Given the description of an element on the screen output the (x, y) to click on. 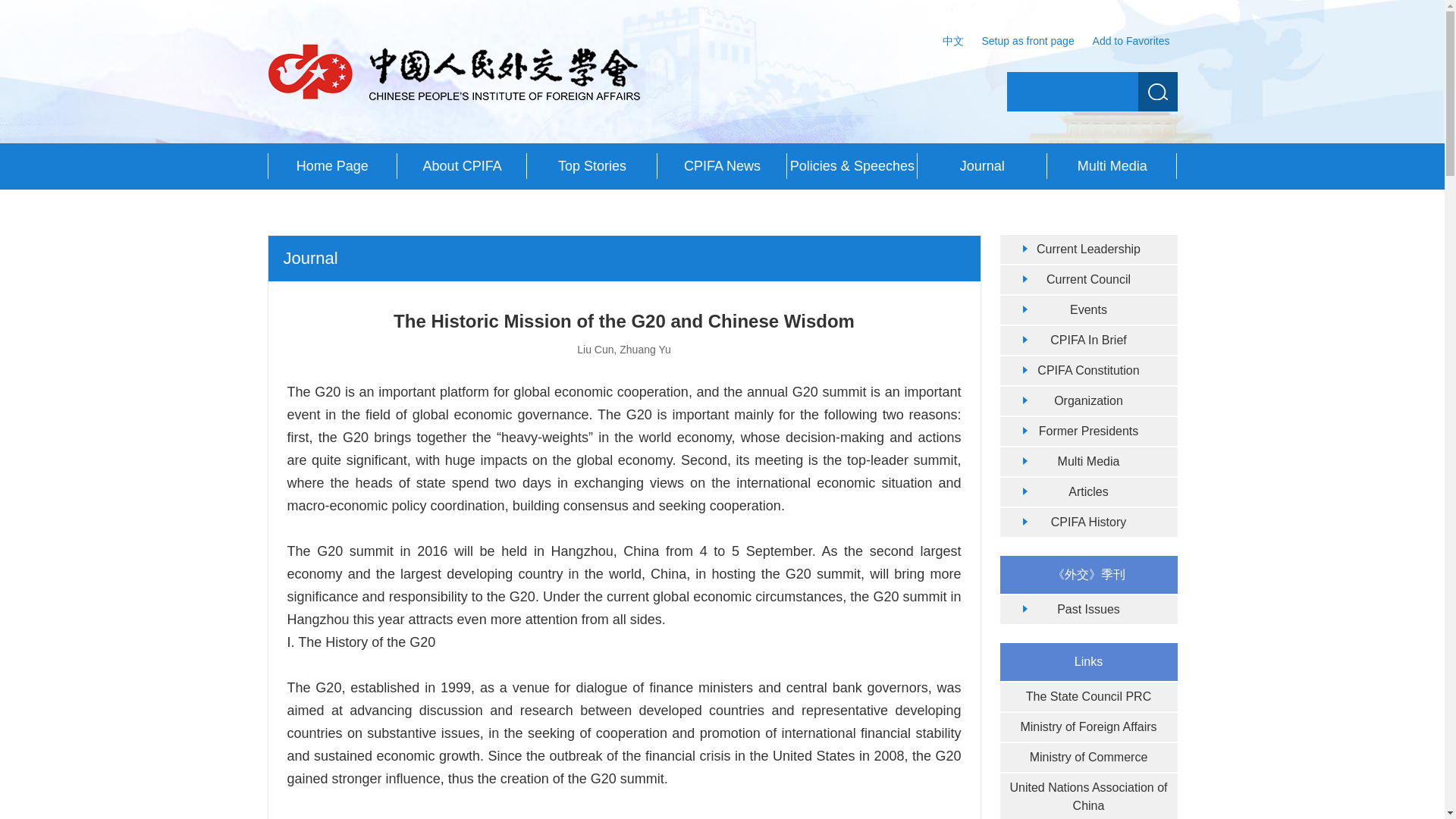
Setup as front page (1027, 40)
Home Page (331, 166)
Top Stories (591, 166)
About CPIFA (462, 166)
CPIFA News (722, 166)
Journal (981, 166)
Add to Favorites (1131, 40)
Multi Media (1111, 166)
